Given the description of an element on the screen output the (x, y) to click on. 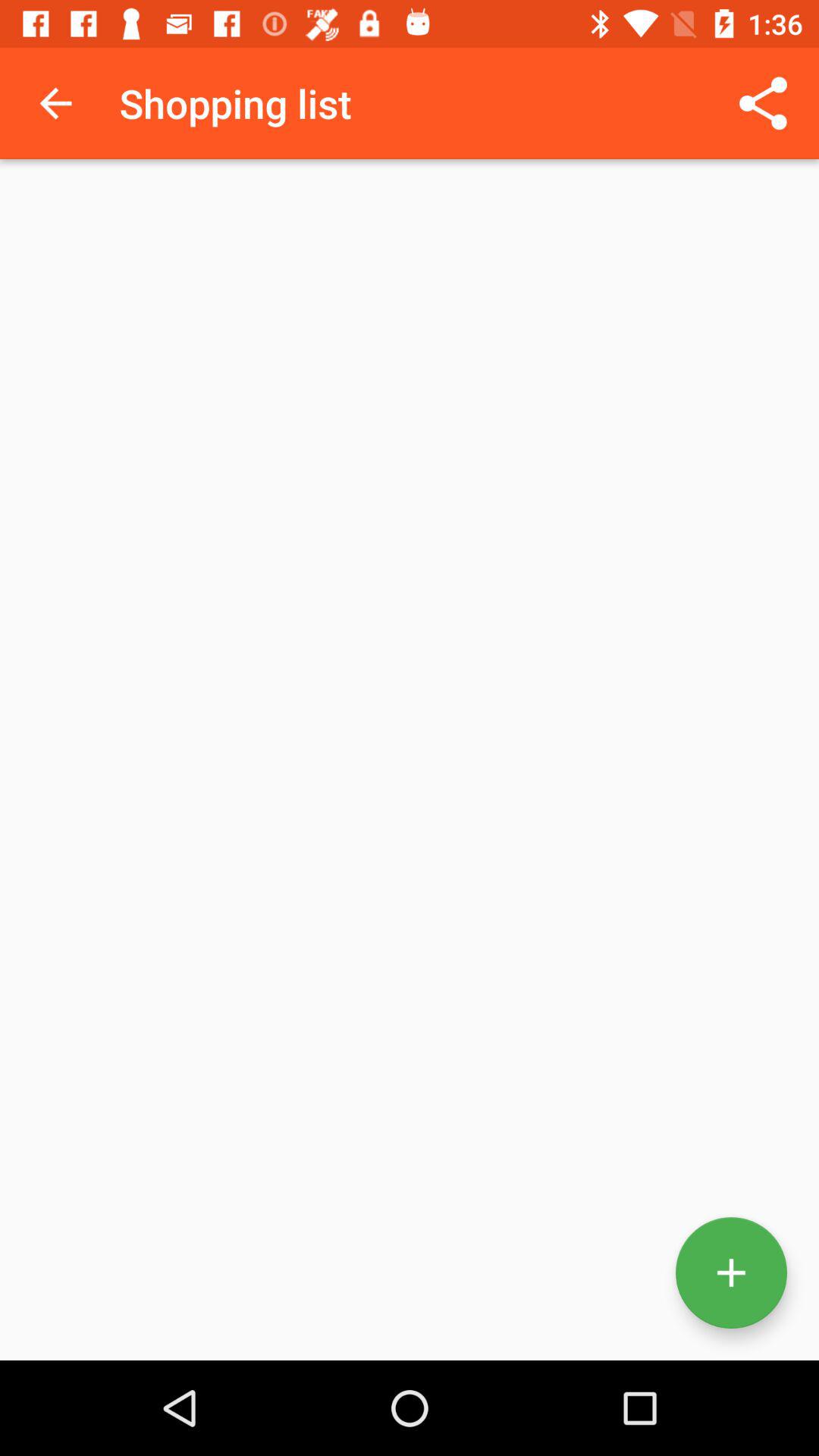
press the icon at the bottom right corner (731, 1272)
